Given the description of an element on the screen output the (x, y) to click on. 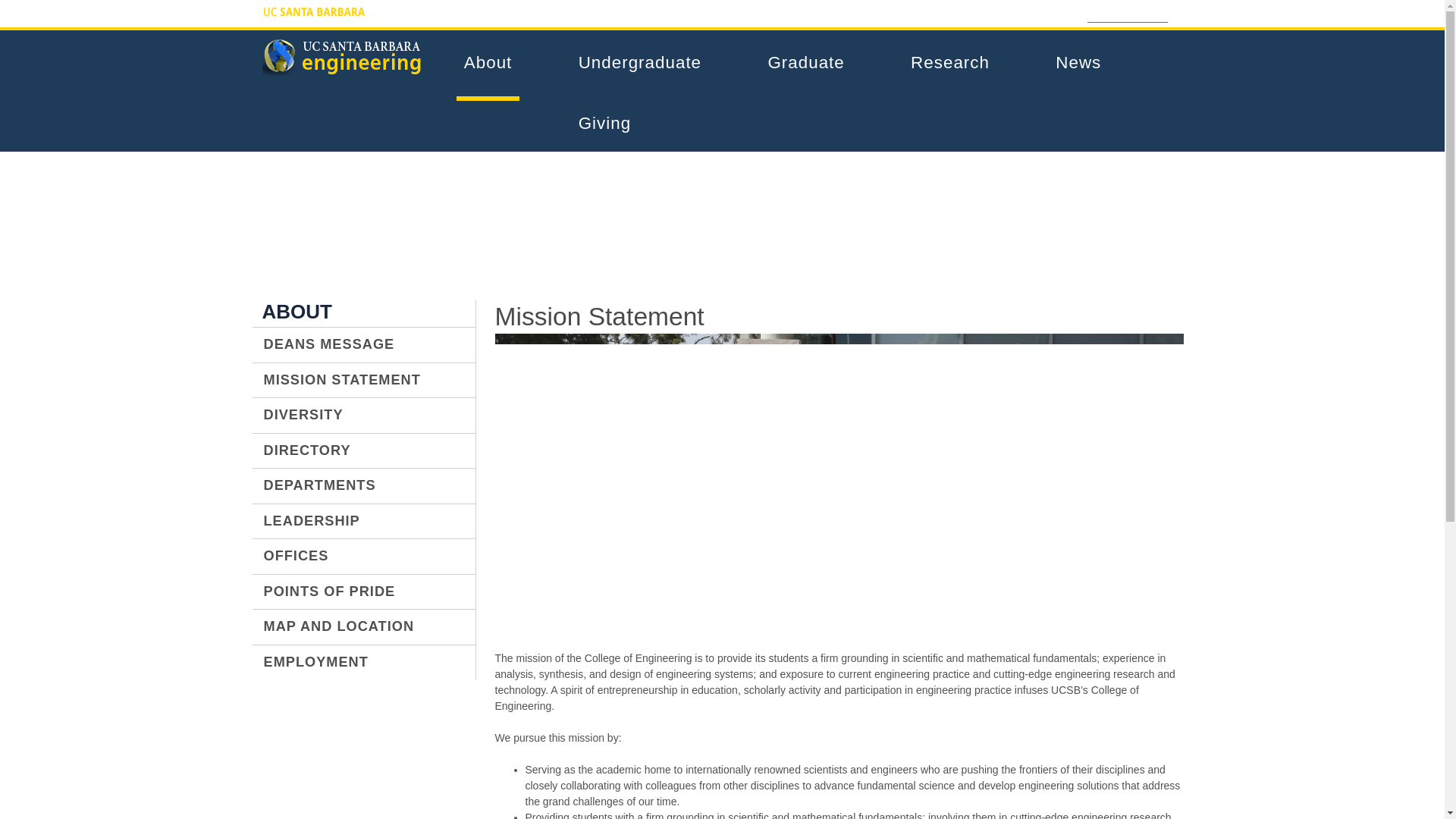
About (496, 62)
CONVERGENCE (732, 10)
Undergraduate (647, 62)
Search (1177, 8)
Giving (611, 123)
STAFF RESOURCES (1028, 10)
College of Engineering - UC Santa Barbara (342, 69)
Research (956, 62)
Enter the terms you wish to search for. (1127, 11)
